Given the description of an element on the screen output the (x, y) to click on. 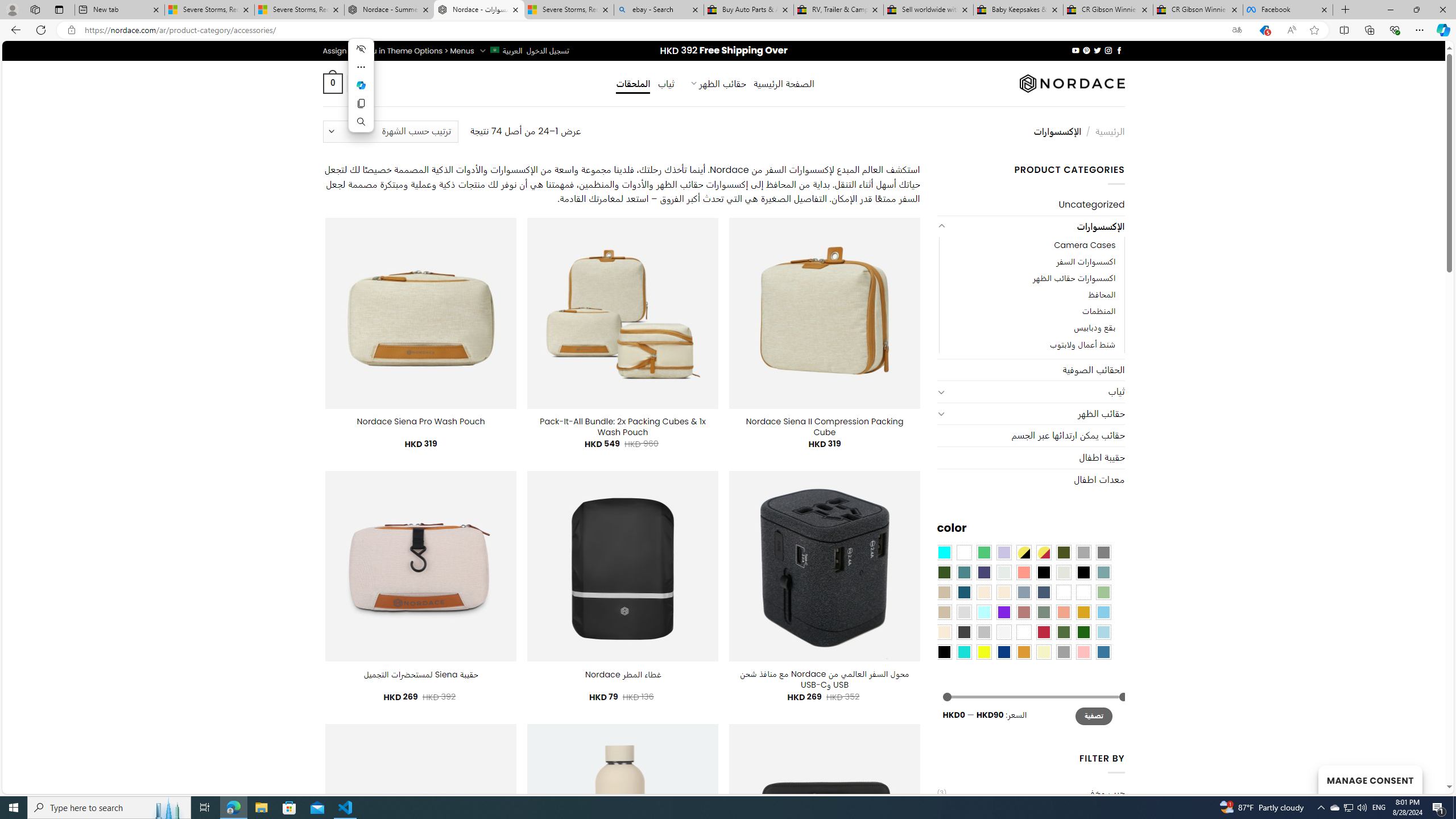
Nordace Siena Pro Wash Pouch (420, 421)
Camera Cases (1084, 245)
Baby Keepsakes & Announcements for sale | eBay (1018, 9)
Forest (944, 572)
Light Green (1103, 591)
Close (1442, 9)
